Given the description of an element on the screen output the (x, y) to click on. 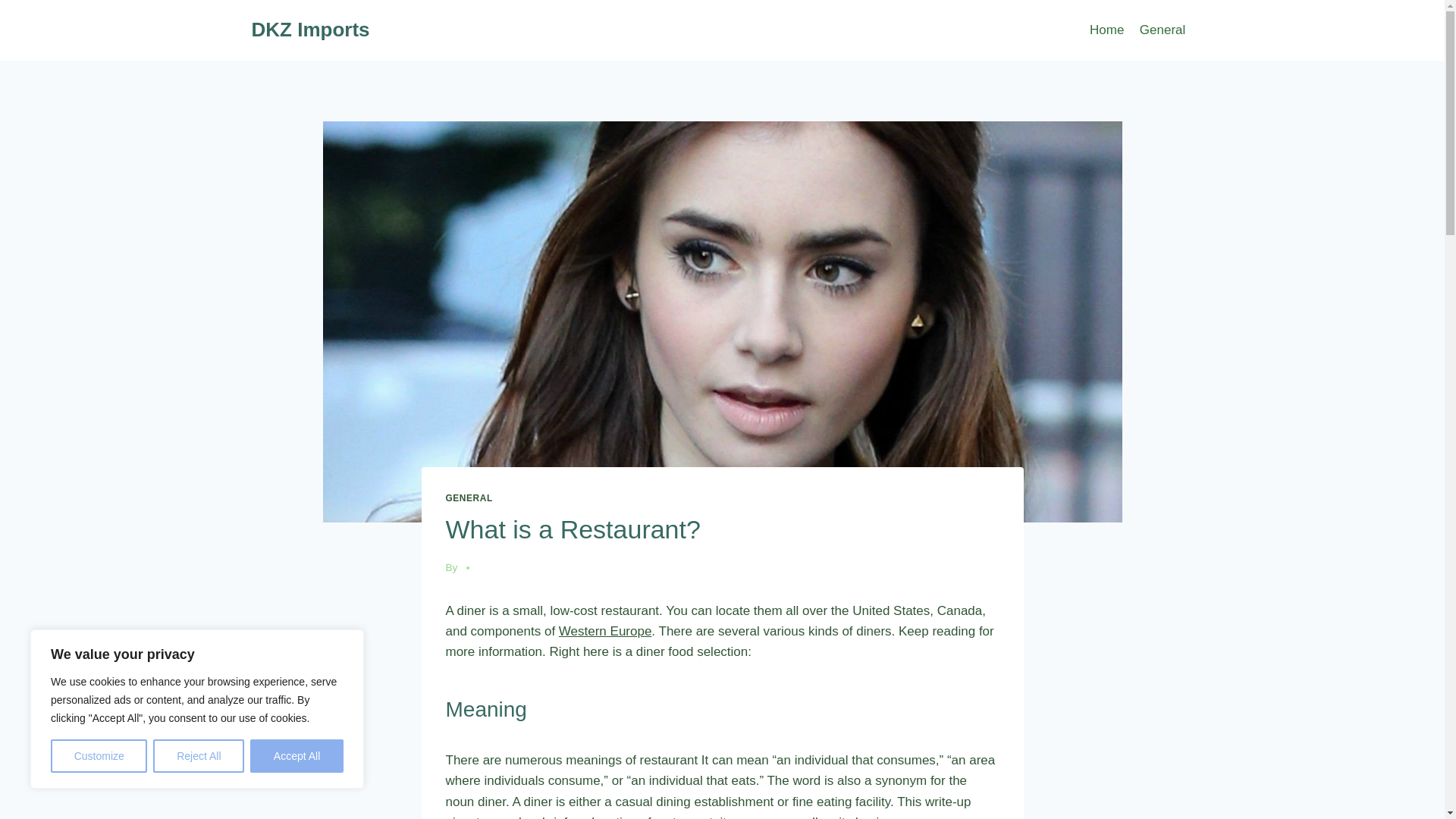
Accept All (296, 756)
Customize (98, 756)
DKZ Imports (310, 29)
GENERAL (469, 498)
Western Europe (605, 631)
Reject All (198, 756)
General (1162, 30)
Home (1106, 30)
